Given the description of an element on the screen output the (x, y) to click on. 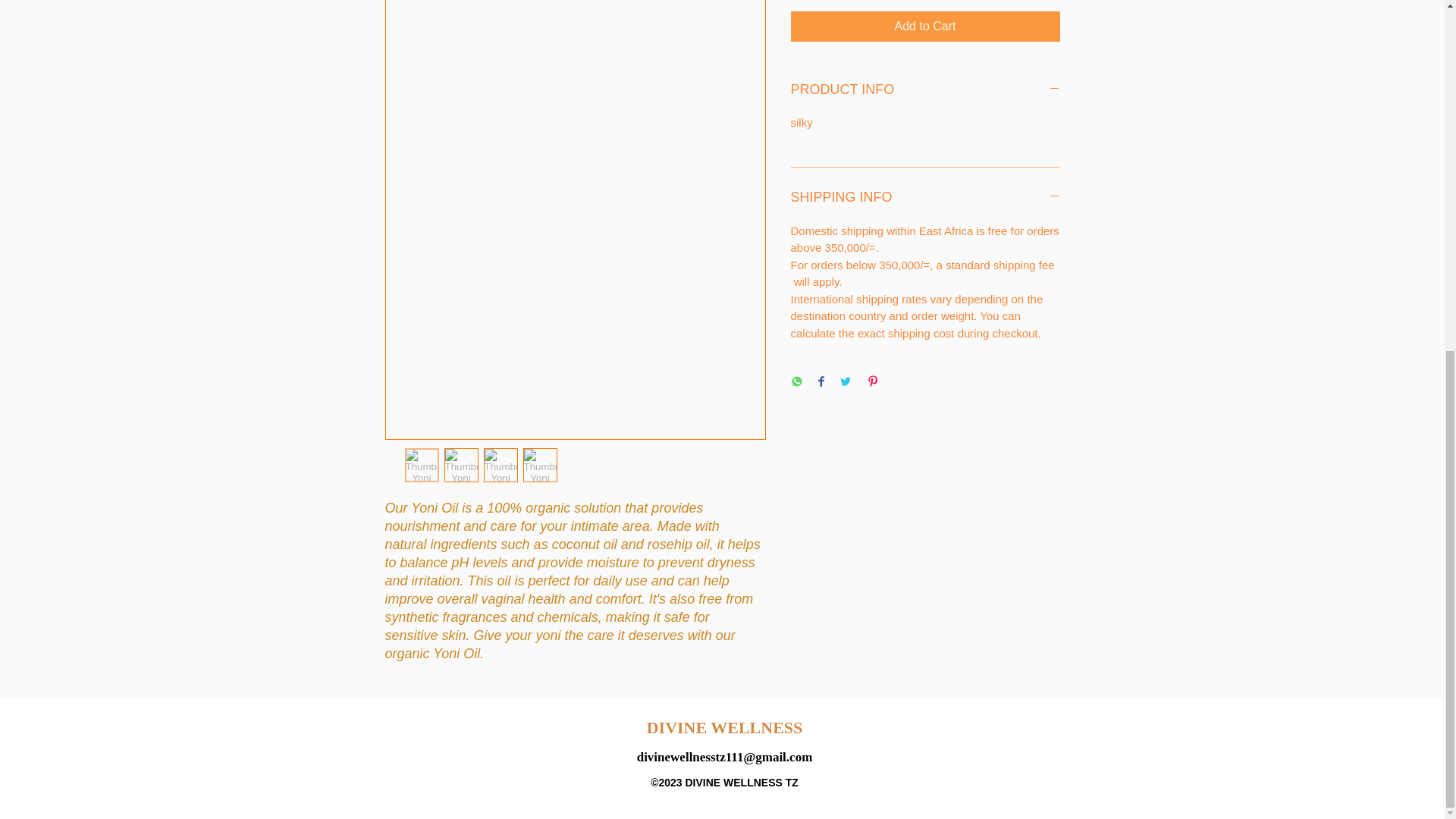
PRODUCT INFO (924, 89)
SHIPPING INFO (924, 197)
Add to Cart (924, 26)
